Given the description of an element on the screen output the (x, y) to click on. 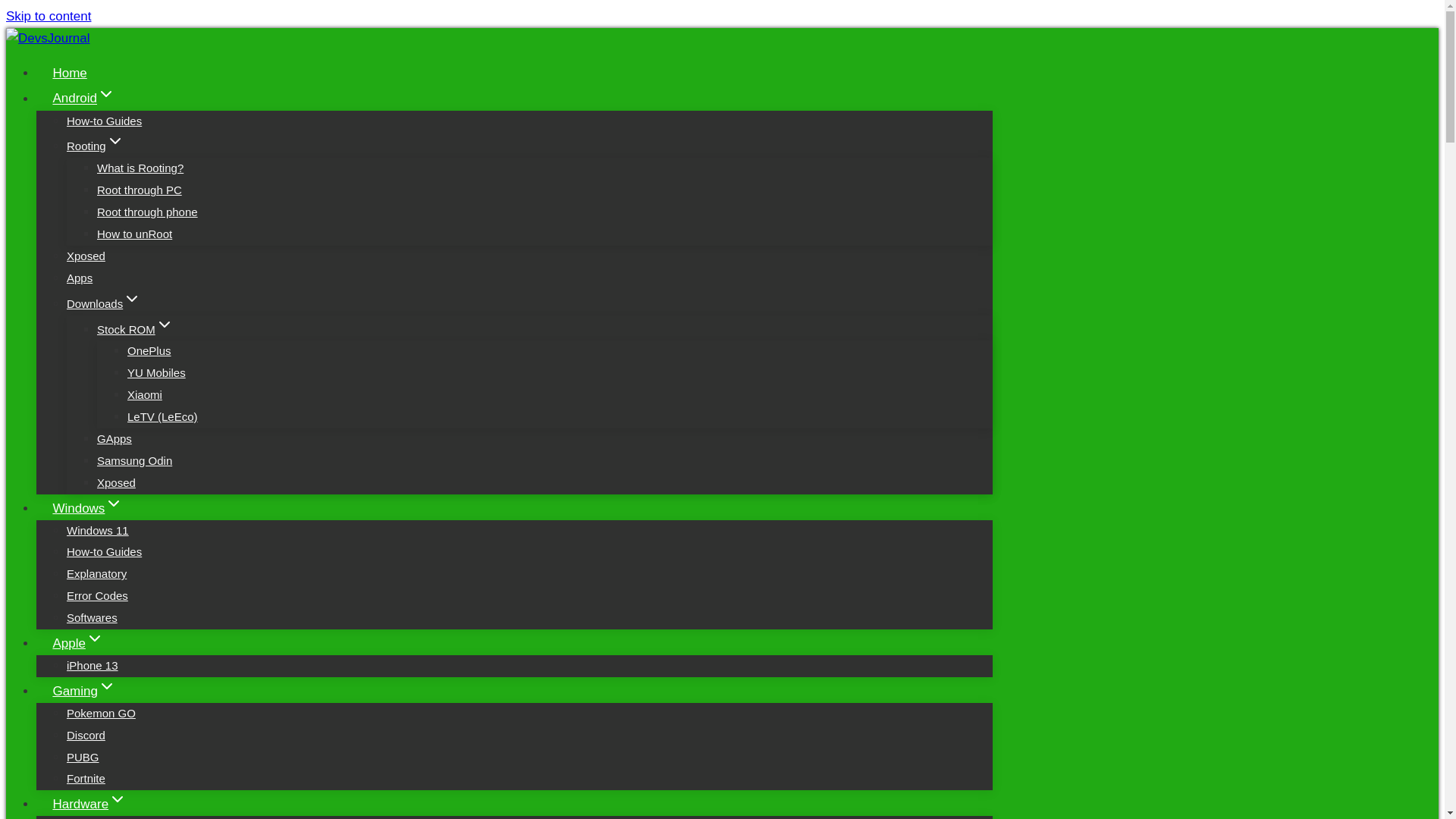
GApps (114, 438)
Explanatory (96, 573)
How-to Guides (103, 551)
Expand (94, 638)
Root through PC (139, 189)
Xiaomi (144, 394)
DownloadsExpand (103, 303)
Root through phone (147, 212)
Fortnite (85, 778)
Expand (131, 298)
Expand (114, 140)
WindowsExpand (87, 508)
YU Mobiles (157, 372)
How-to Guides (103, 120)
Pokemon GO (100, 713)
